Given the description of an element on the screen output the (x, y) to click on. 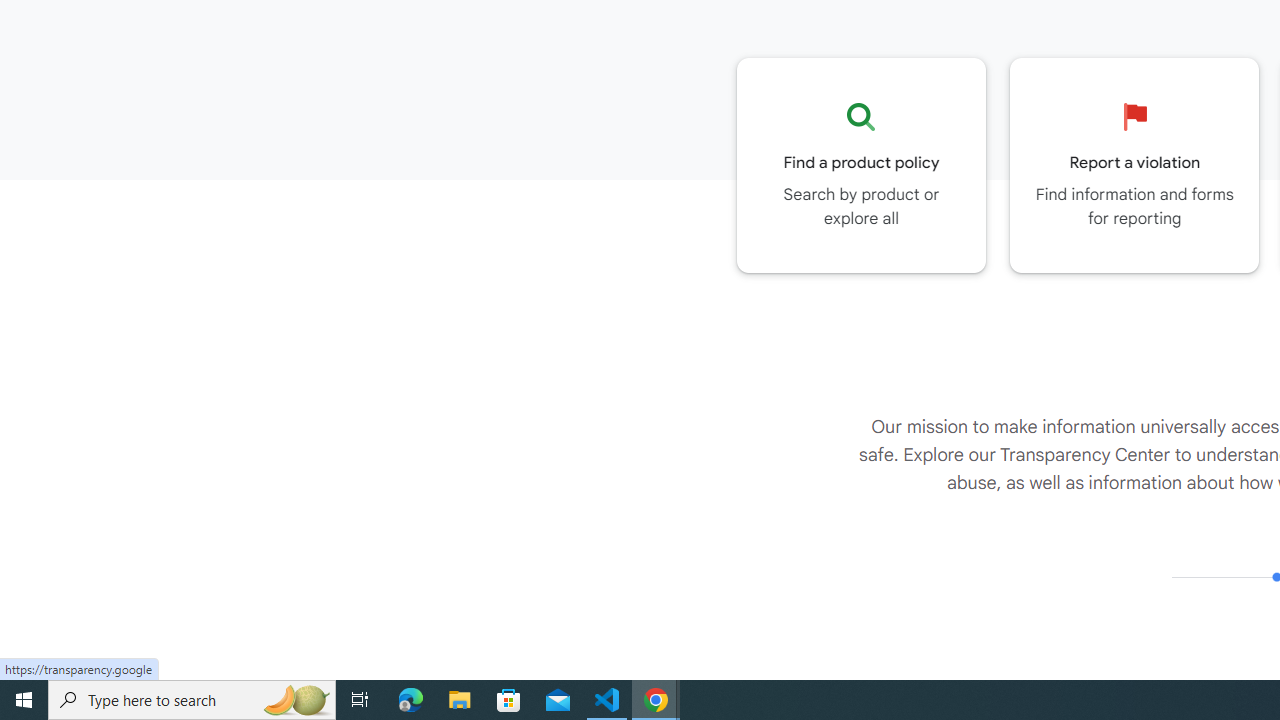
Go to the Reporting and appeals page (1134, 165)
Go to the Product policy page (861, 165)
